Given the description of an element on the screen output the (x, y) to click on. 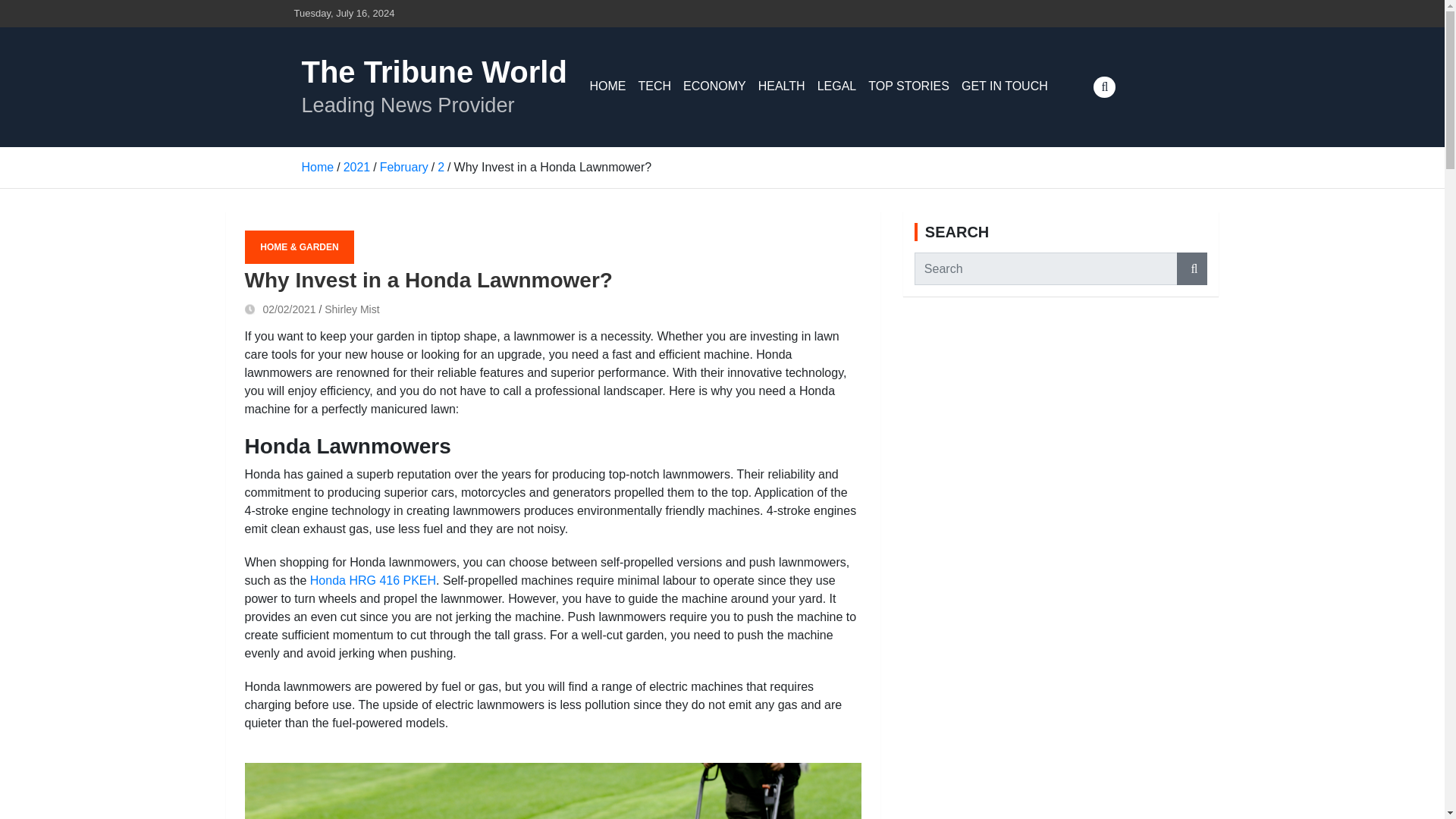
LEGAL (836, 86)
Home (317, 166)
GET IN TOUCH (1004, 86)
Shirley Mist (351, 309)
2021 (357, 166)
Search (1191, 268)
TOP STORIES (908, 86)
February (404, 166)
Why Invest in a Honda Lawnmower? (279, 309)
Honda HRG 416 PKEH (372, 580)
ECONOMY (713, 86)
The Tribune World (434, 70)
HEALTH (781, 86)
